Given the description of an element on the screen output the (x, y) to click on. 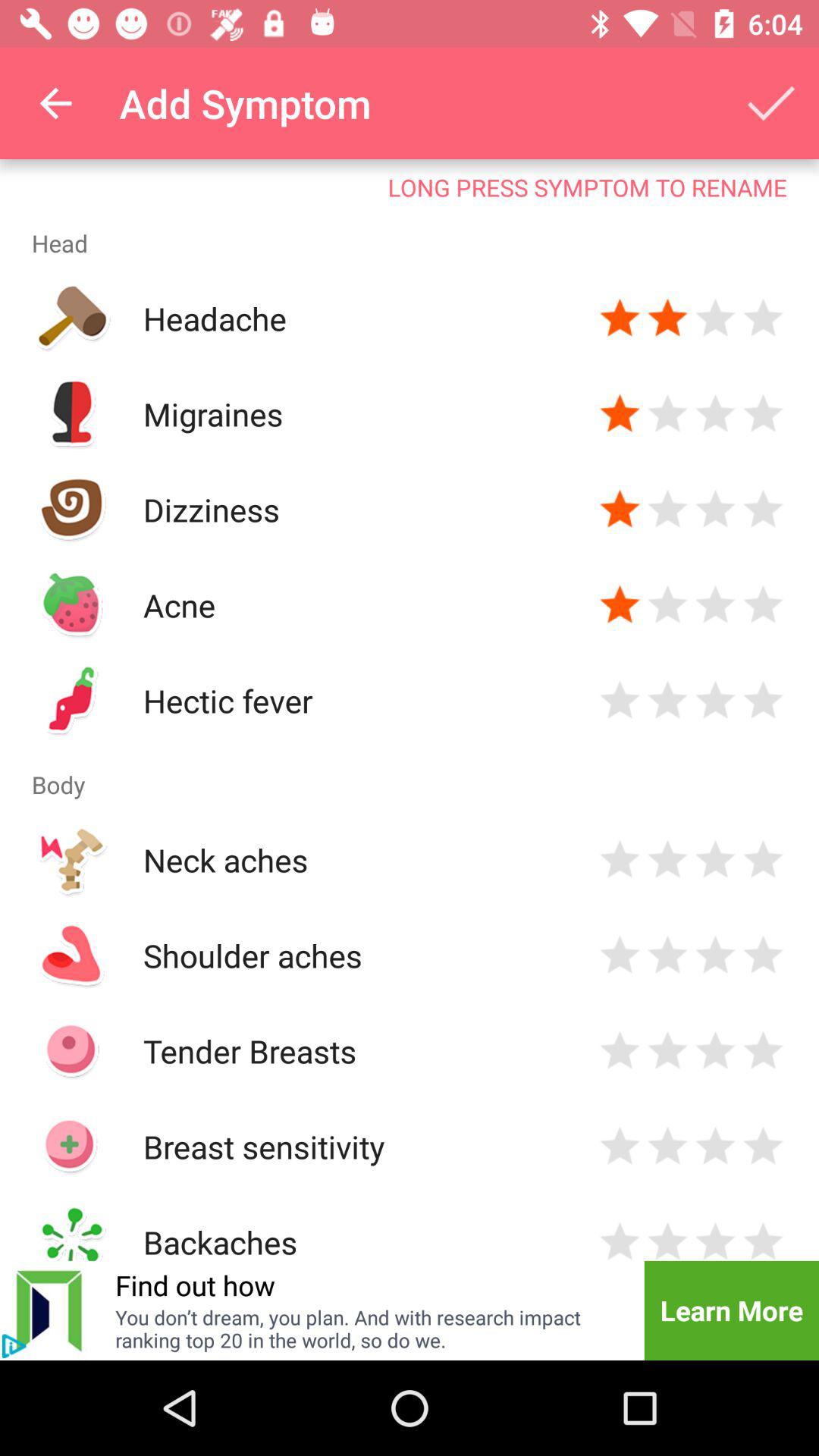
two stars (667, 1146)
